Given the description of an element on the screen output the (x, y) to click on. 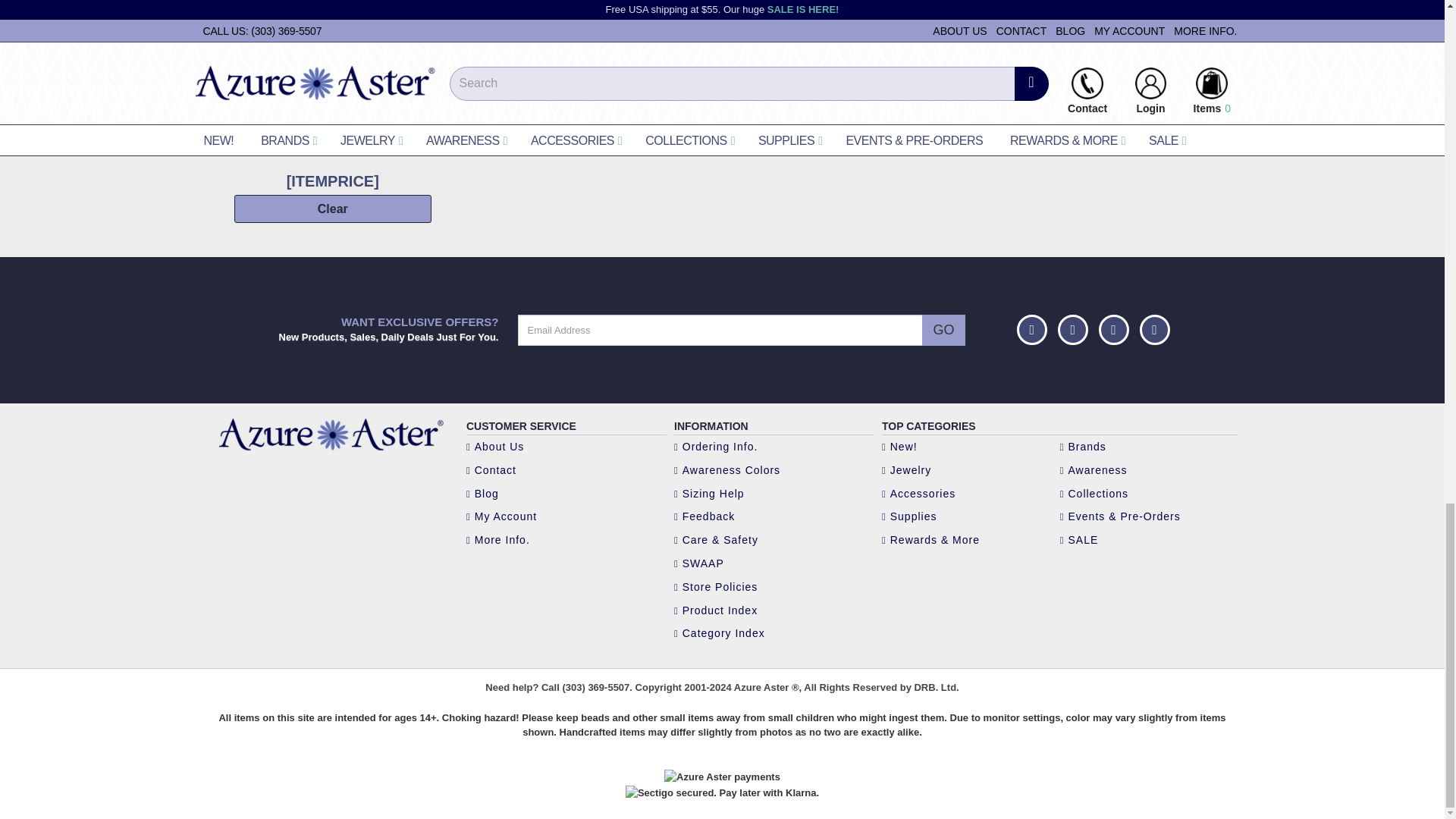
Subscribe to our Blog (1153, 329)
Follow Us on Pinterest (1072, 329)
Follow Us on Instagram (1114, 329)
Like Us on Facebook (1031, 329)
